Given the description of an element on the screen output the (x, y) to click on. 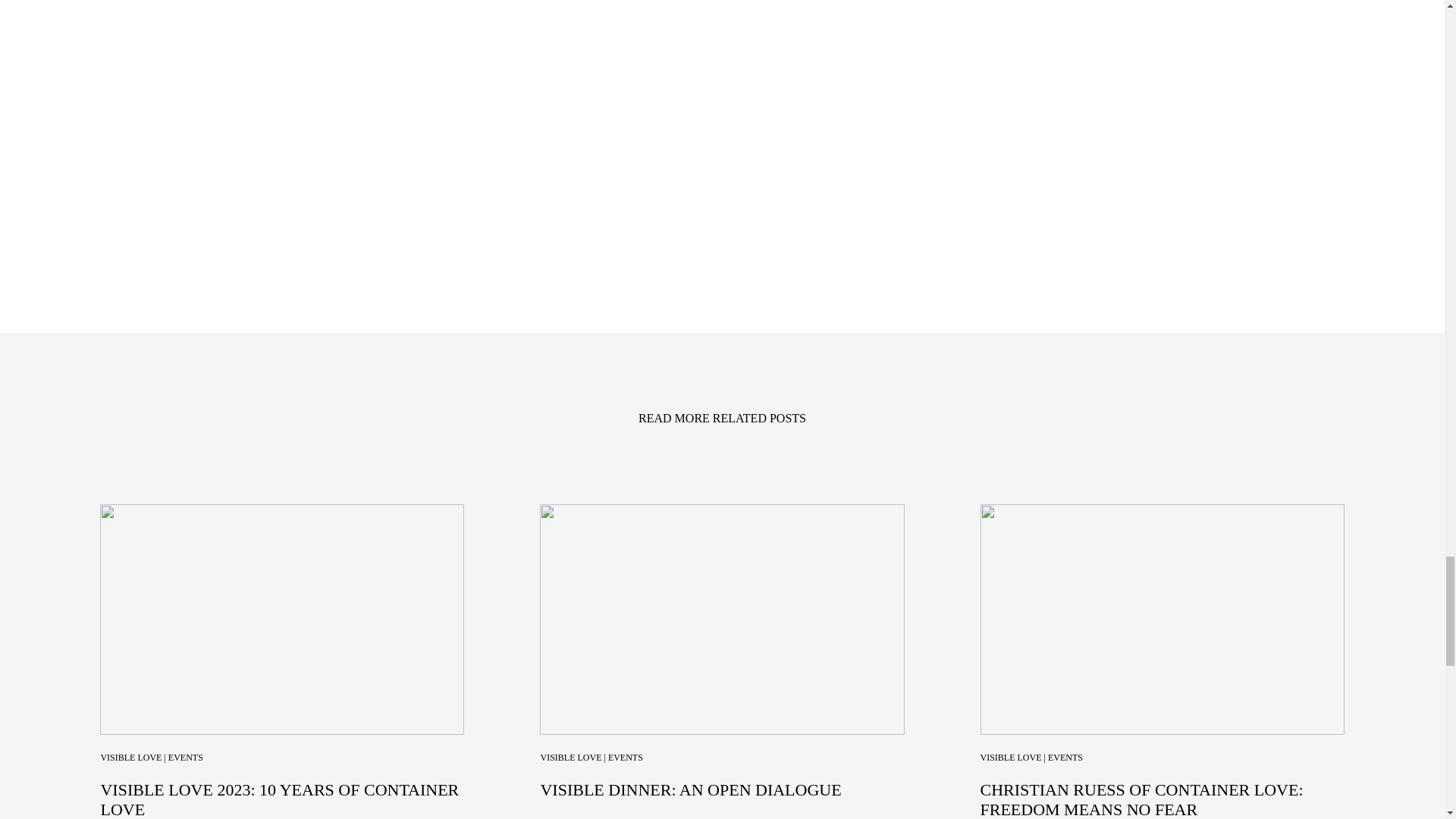
VISIBLE LOVE (570, 757)
VISIBLE LOVE 2023: 10 YEARS OF CONTAINER LOVE (279, 799)
EVENTS (625, 757)
EVENTS (1065, 757)
EVENTS (185, 757)
VISIBLE LOVE (130, 757)
VISIBLE DINNER: AN OPEN DIALOGUE (690, 789)
CHRISTIAN RUESS OF CONTAINER LOVE: FREEDOM MEANS NO FEAR (1141, 799)
VISIBLE LOVE (1010, 757)
